Given the description of an element on the screen output the (x, y) to click on. 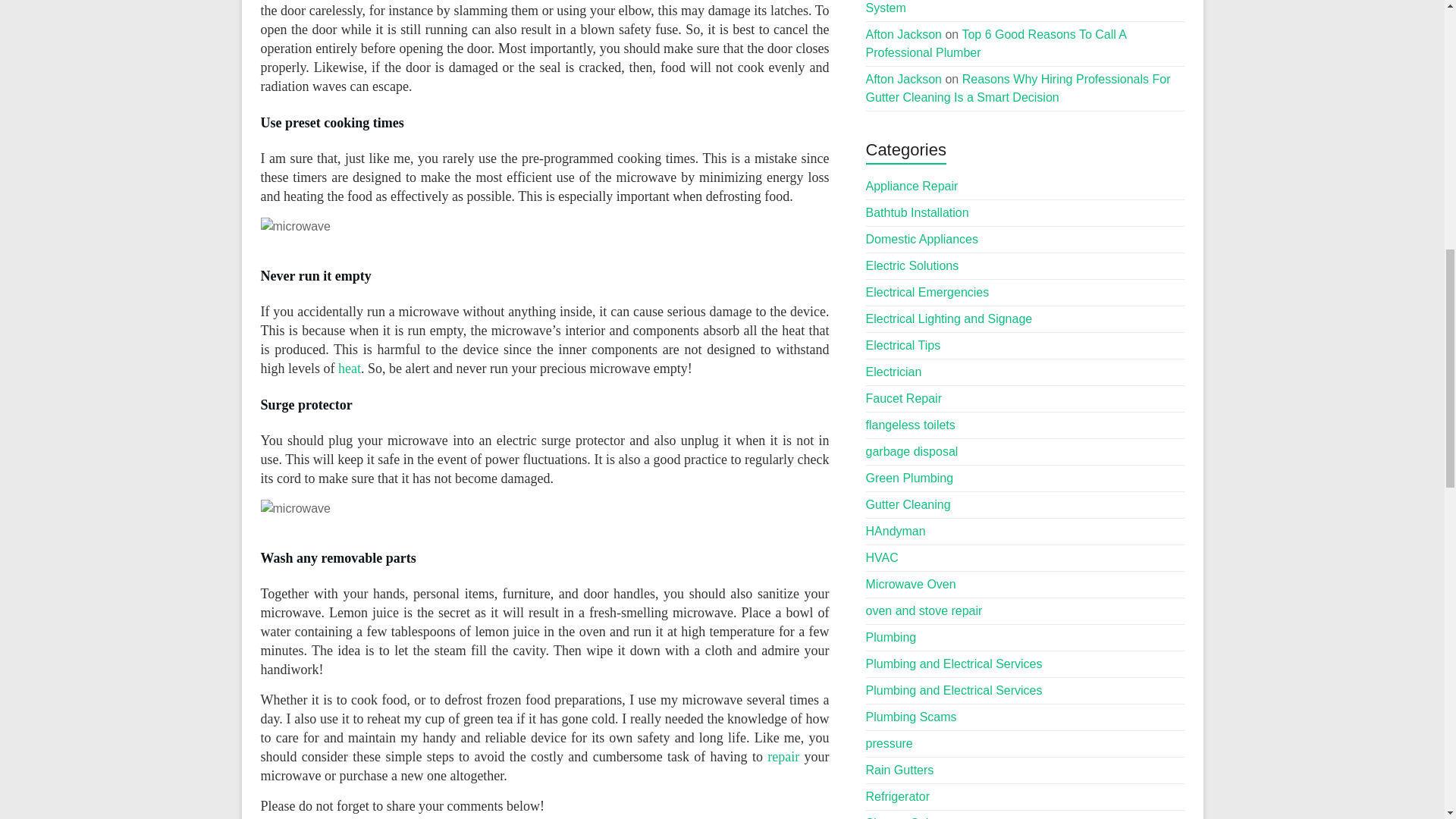
repair (783, 756)
heat (349, 368)
